Given the description of an element on the screen output the (x, y) to click on. 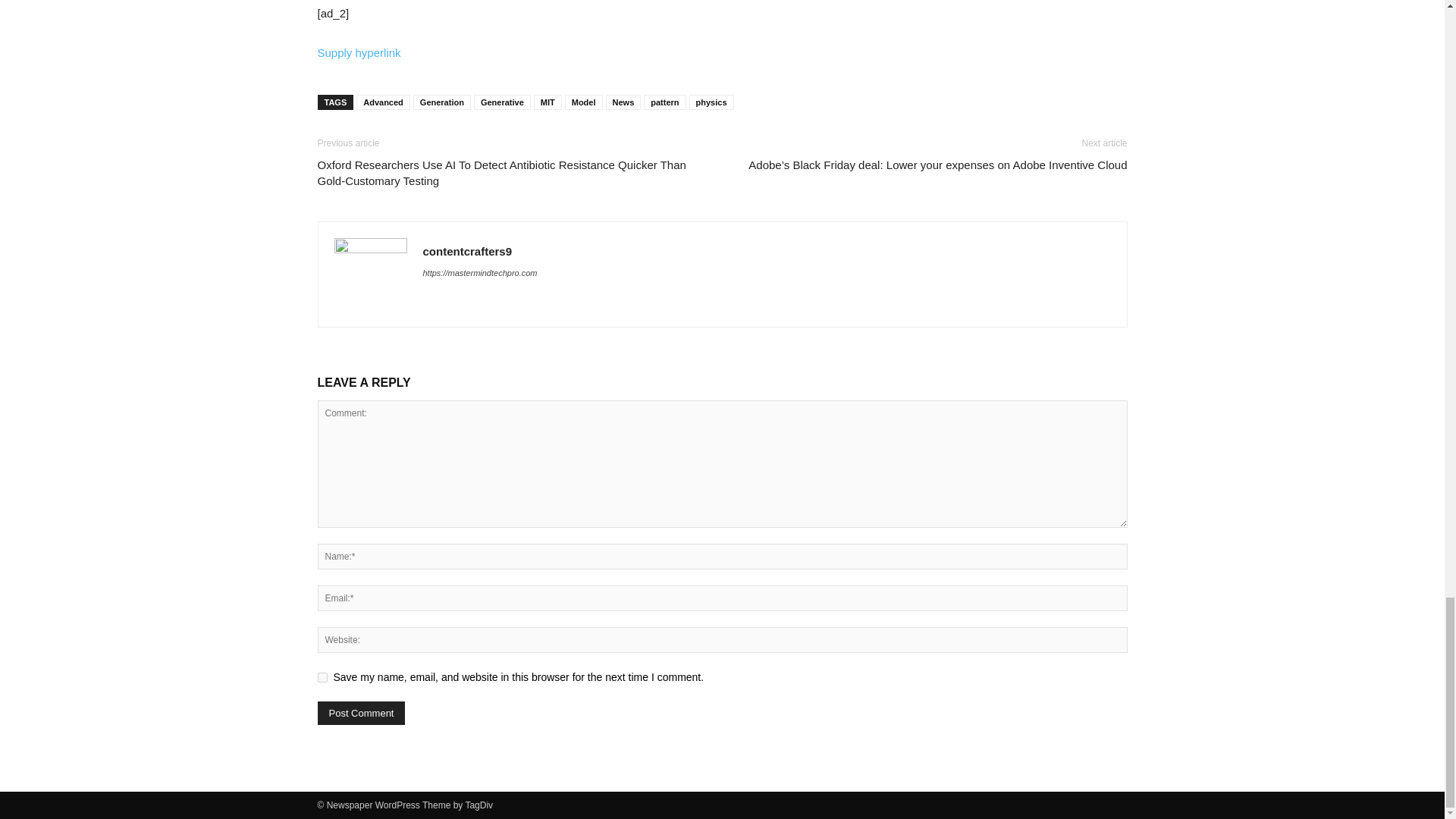
pattern (664, 102)
News (623, 102)
physics (710, 102)
Generative (502, 102)
yes (321, 677)
Generation (441, 102)
MIT (548, 102)
contentcrafters9 (467, 250)
Supply hyperlink (358, 51)
Post Comment (360, 712)
Post Comment (360, 712)
Advanced (383, 102)
Model (583, 102)
